Given the description of an element on the screen output the (x, y) to click on. 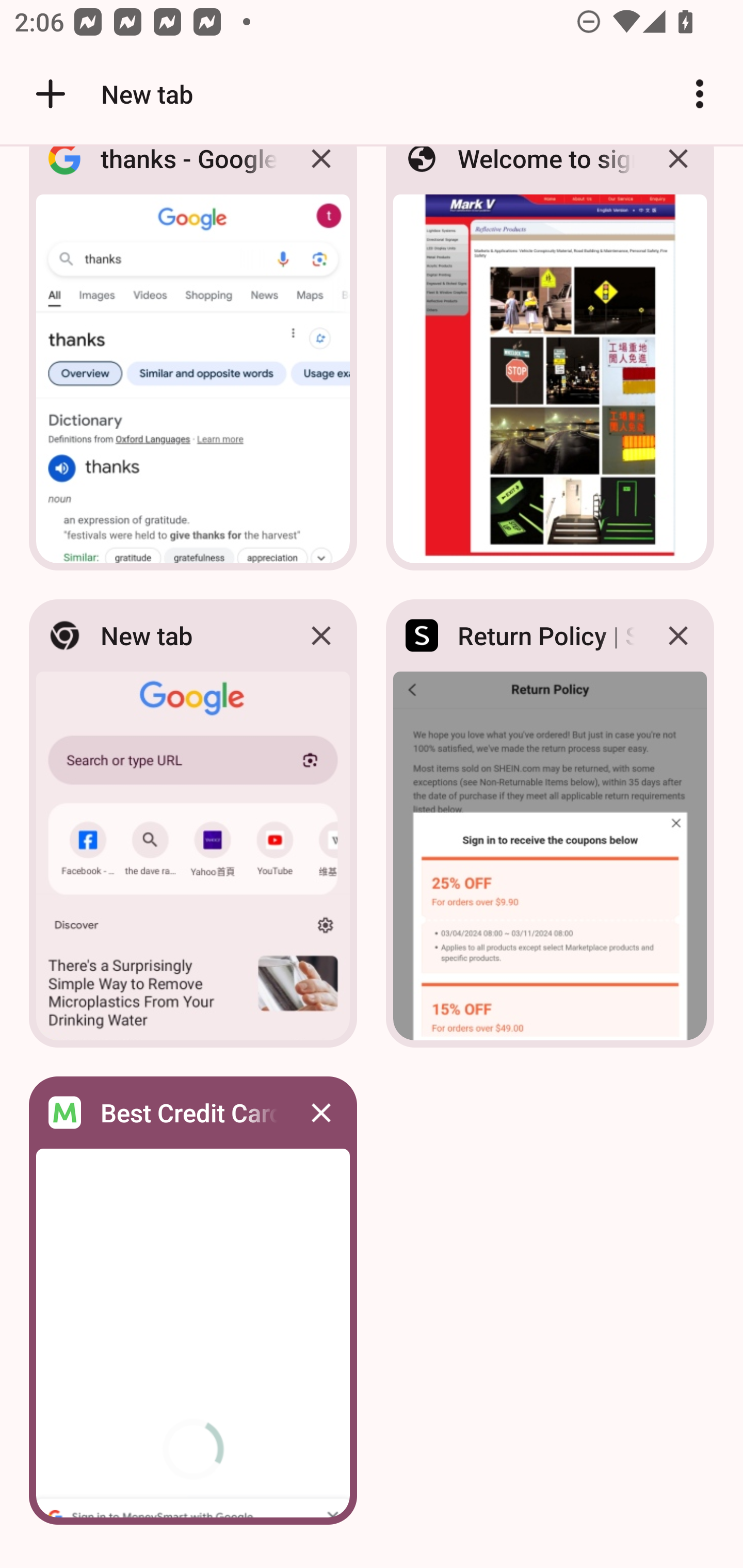
New tab (111, 93)
Customize and control Google Chrome (699, 93)
Close thanks - Google Search tab (320, 173)
Close Welcome to sign1st.com tab (677, 173)
New tab New tab, tab Close New tab tab (192, 822)
Close New tab tab (320, 635)
Close Return Policy | SHEIN USA tab (677, 635)
